Given the description of an element on the screen output the (x, y) to click on. 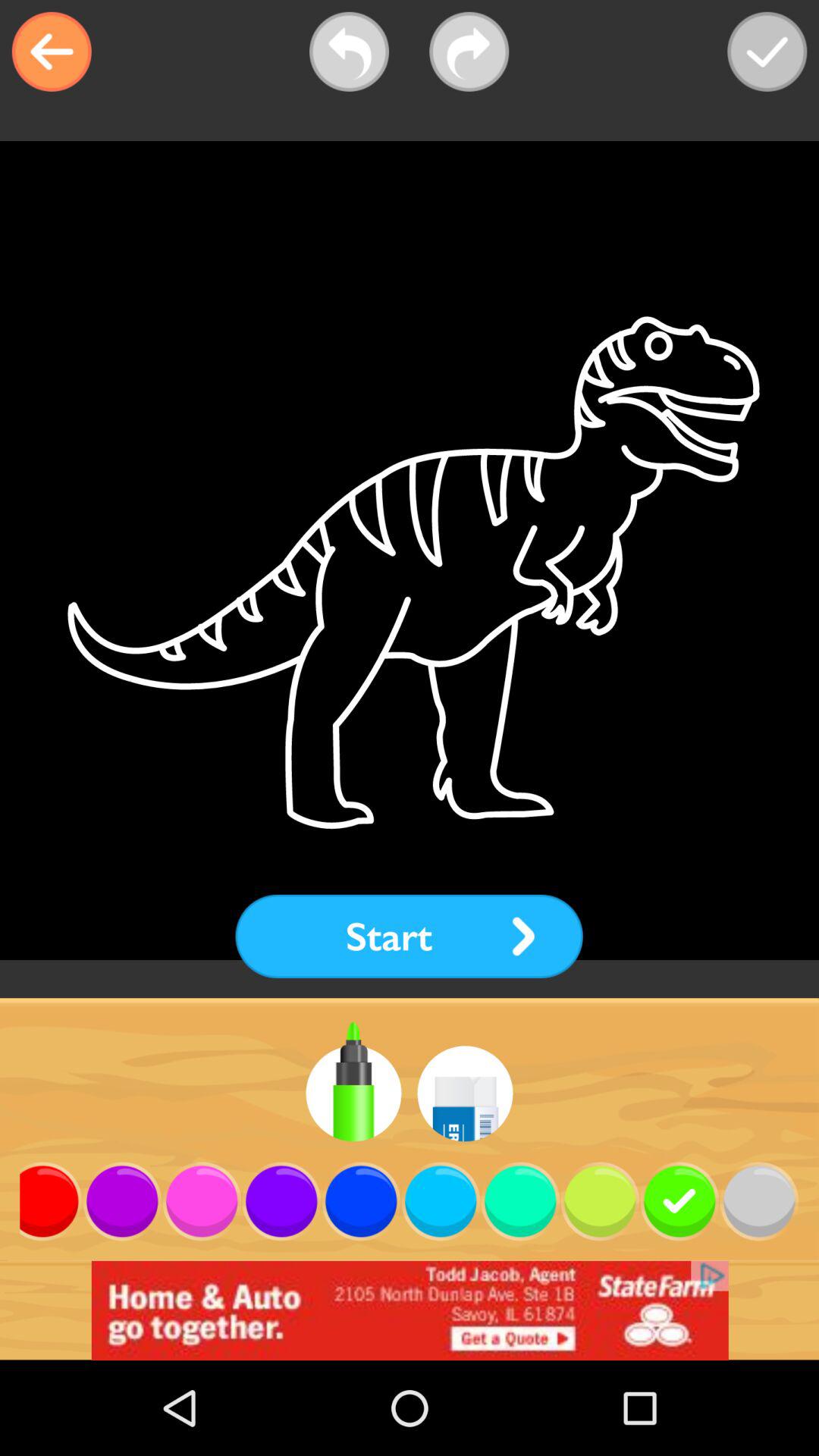
go to advertisement (409, 1310)
